Given the description of an element on the screen output the (x, y) to click on. 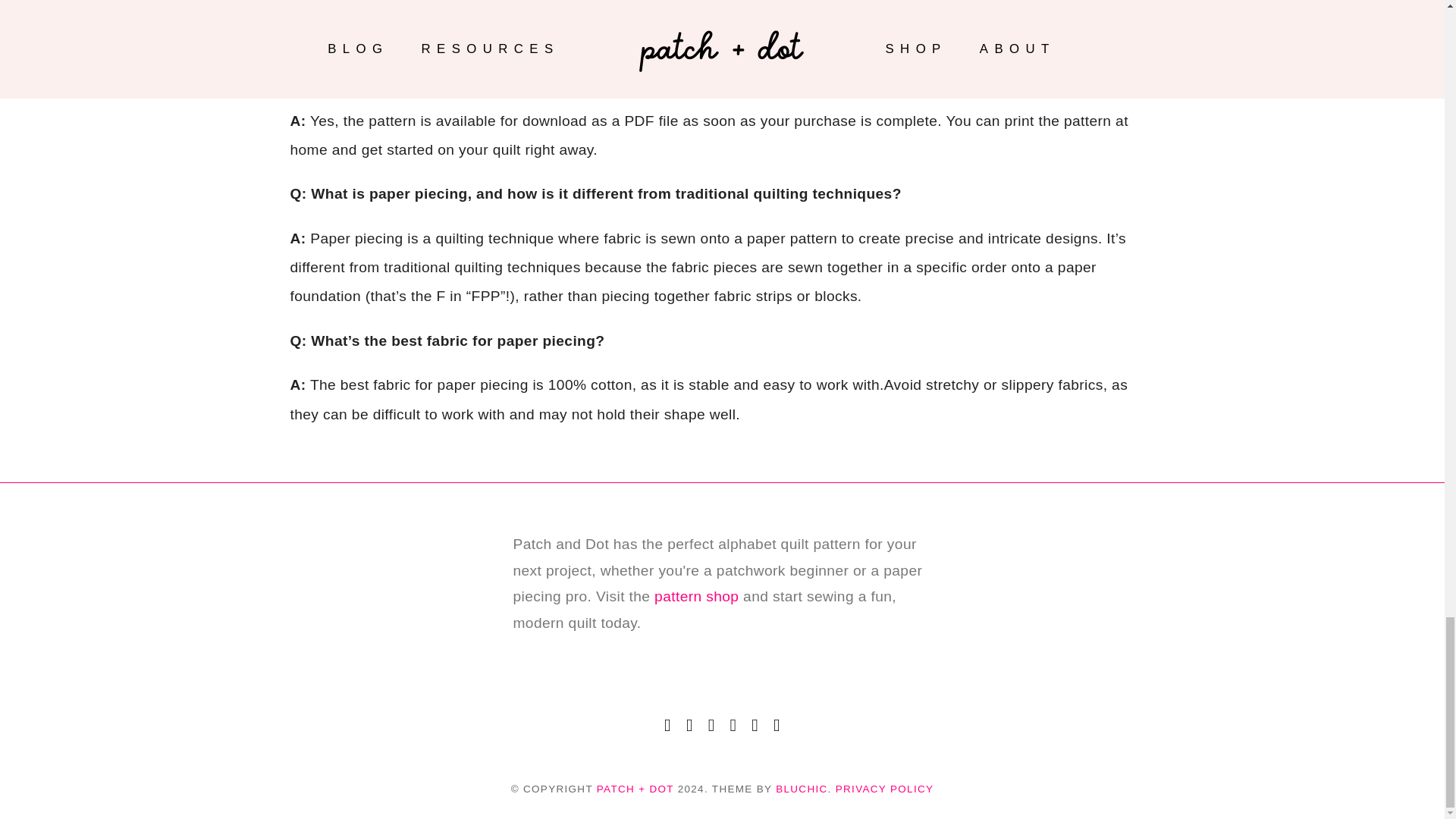
BLUCHIC (801, 788)
pattern shop (695, 596)
PRIVACY POLICY (884, 788)
